Given the description of an element on the screen output the (x, y) to click on. 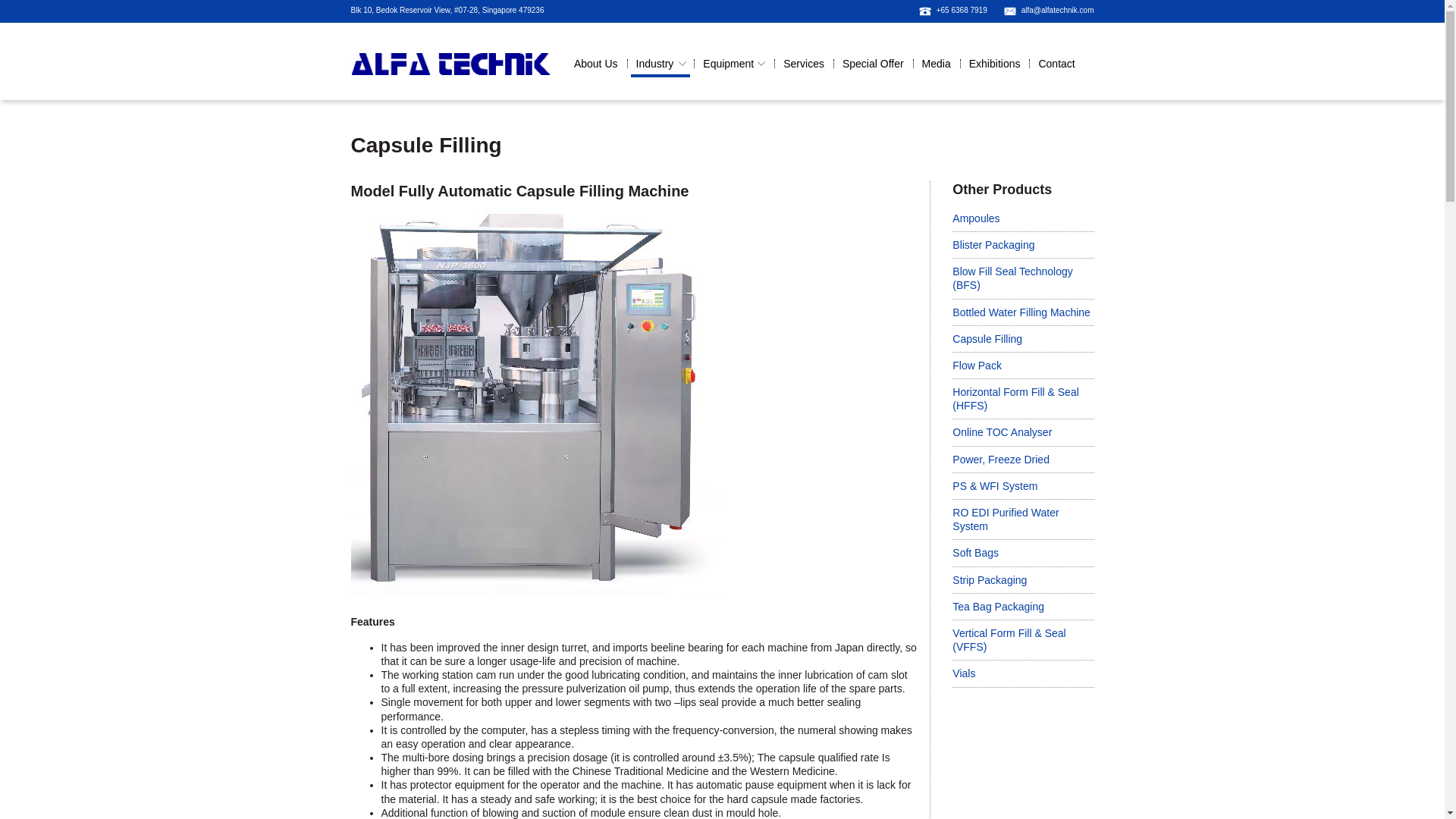
Industry (660, 64)
About Us (596, 64)
Equipment (733, 64)
